Given the description of an element on the screen output the (x, y) to click on. 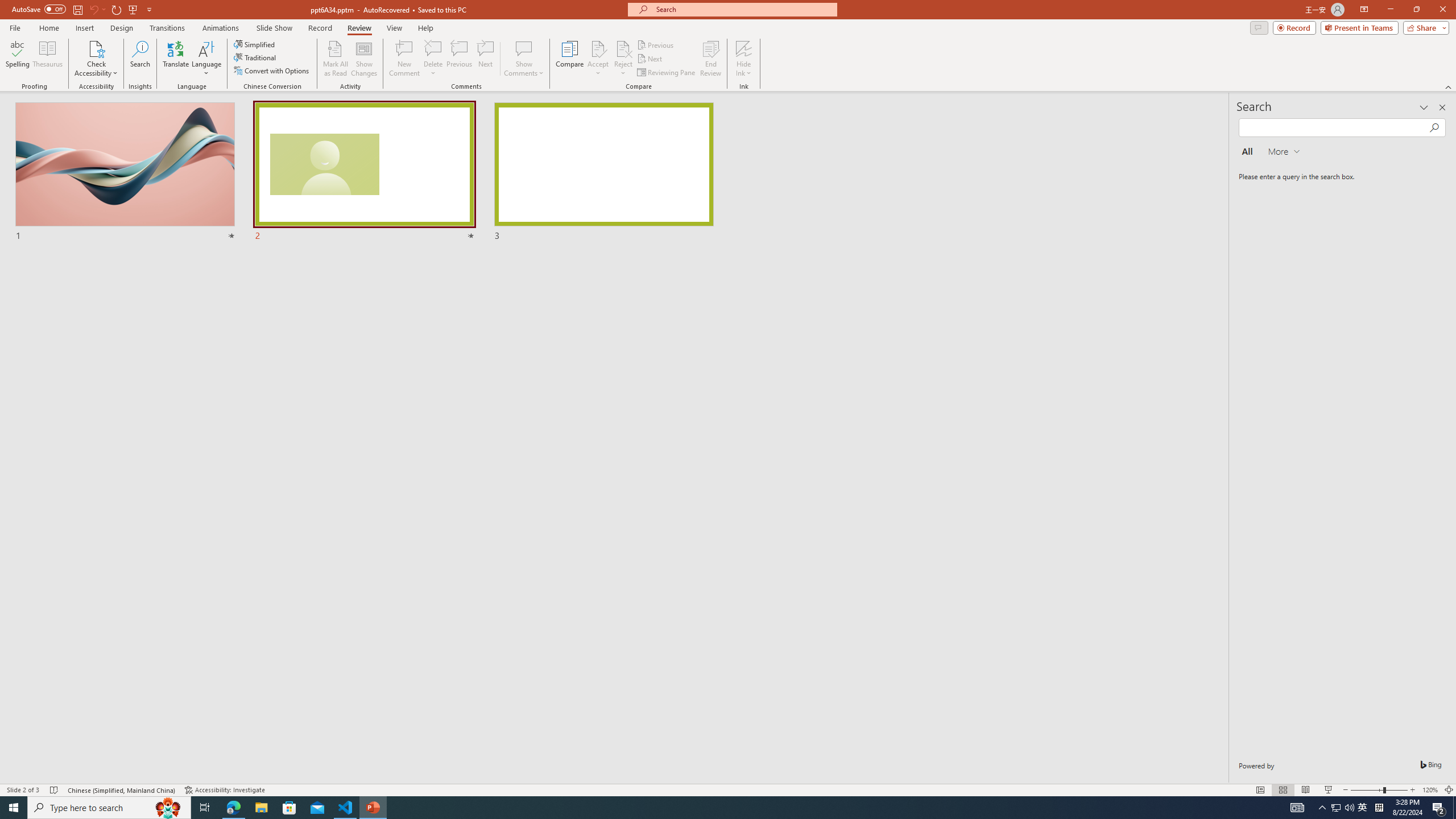
Simplified (254, 44)
Accept Change (598, 48)
